Given the description of an element on the screen output the (x, y) to click on. 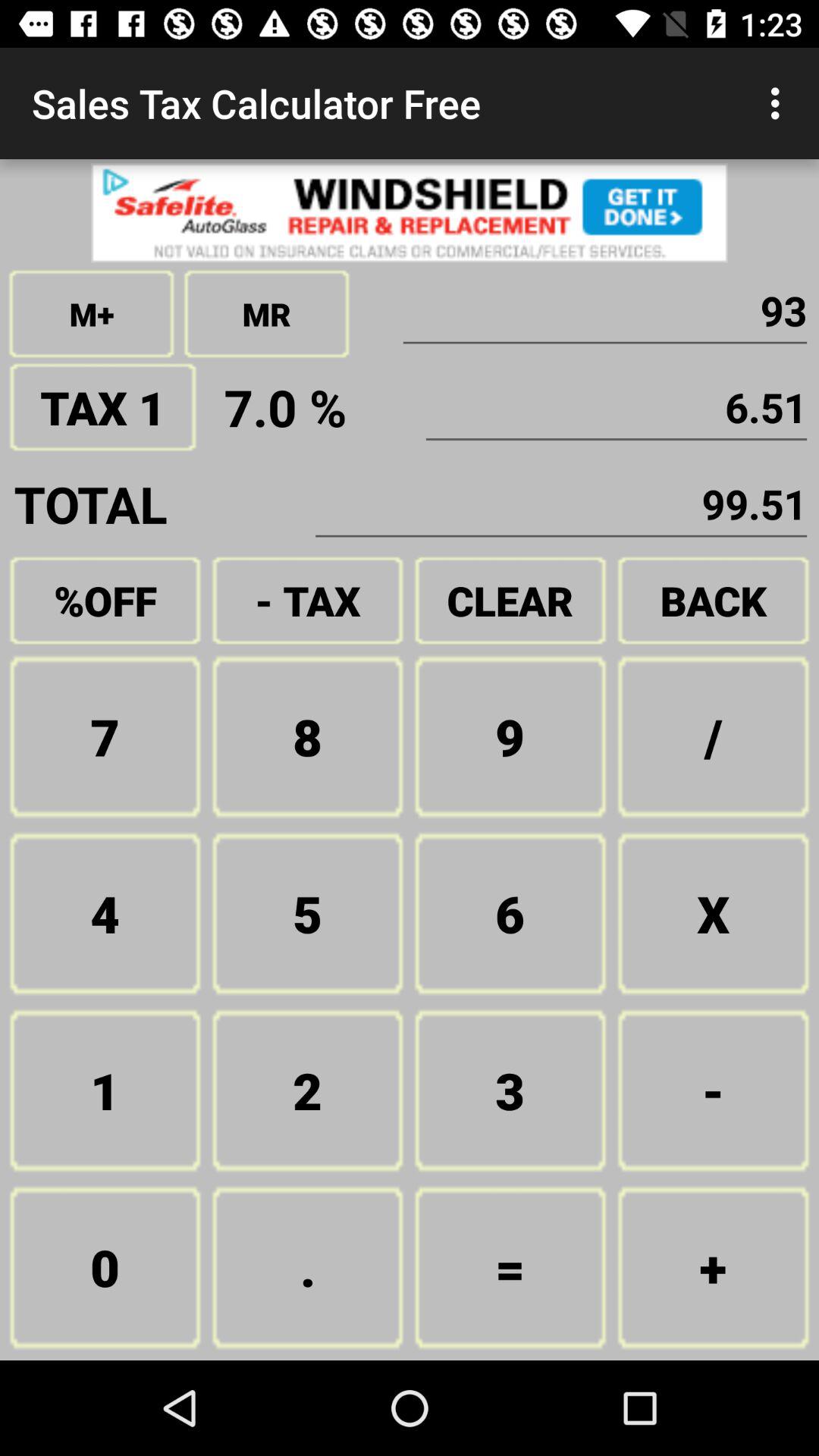
advertisement for windshield repair or replacement (409, 212)
